Given the description of an element on the screen output the (x, y) to click on. 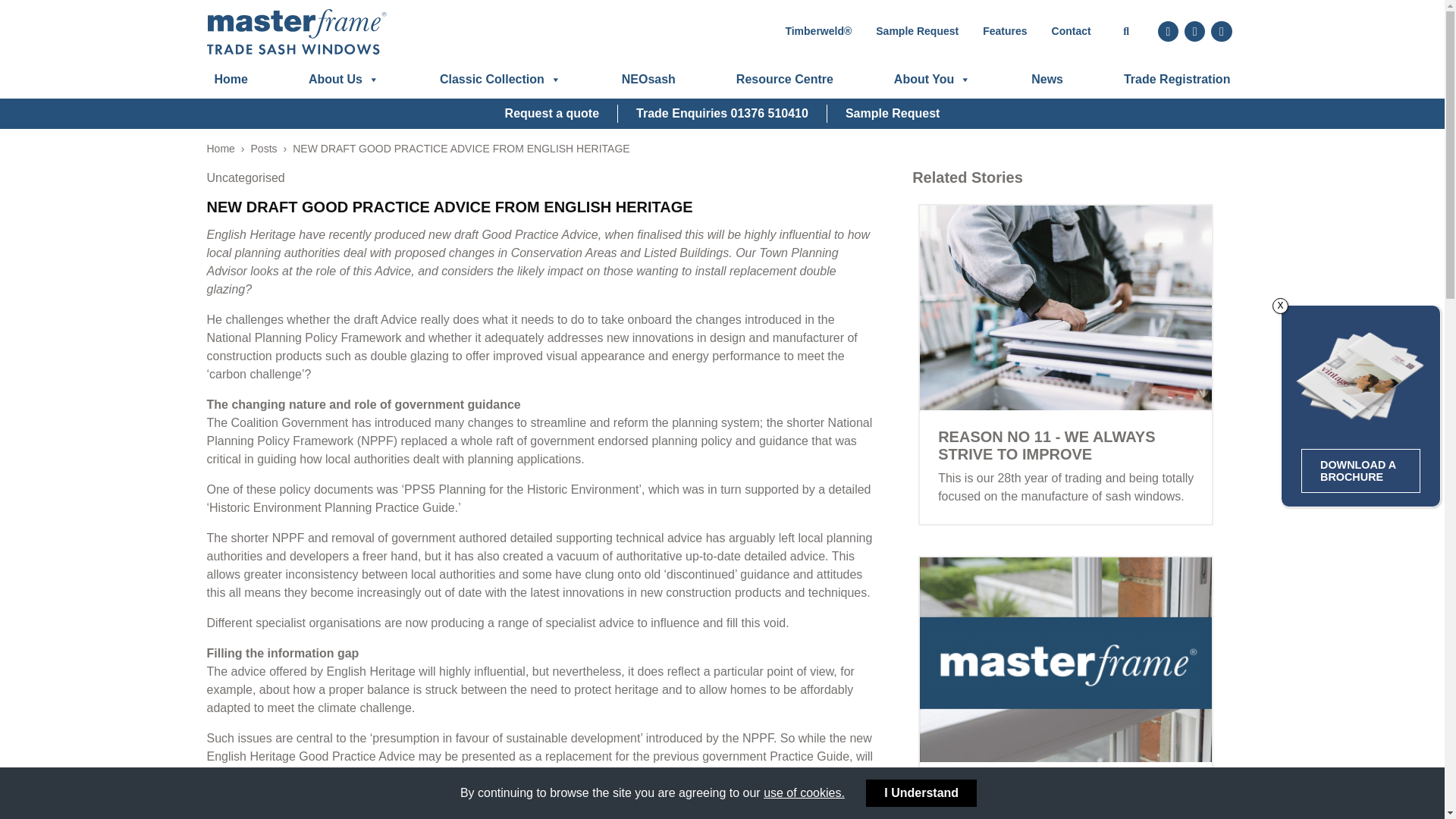
Features (1005, 31)
Trade Registration (1176, 79)
About Us (344, 79)
Sample Request (892, 113)
About You (932, 79)
Request a quote (551, 113)
Contact (1071, 31)
Trade Enquiries 01376 510410 (722, 113)
Sample Request (917, 31)
Classic Collection (500, 79)
News (1046, 79)
Resource Centre (785, 79)
Home (230, 79)
NEOsash (648, 79)
